Given the description of an element on the screen output the (x, y) to click on. 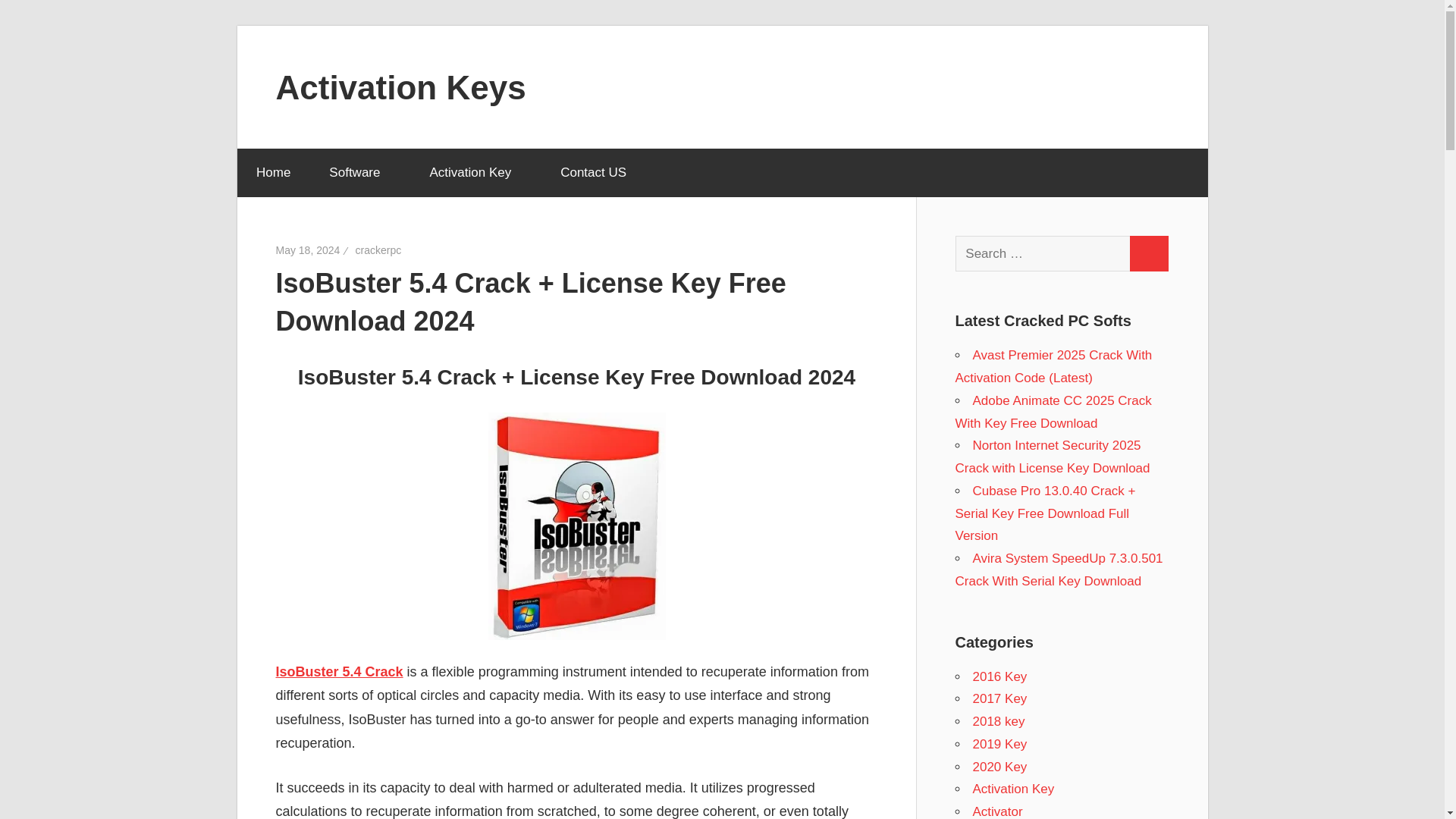
Software (360, 172)
2:18 am (308, 250)
Search (1148, 253)
May 18, 2024 (308, 250)
Activation Keys (400, 86)
Search for: (1043, 253)
2016 Key (999, 676)
